Given the description of an element on the screen output the (x, y) to click on. 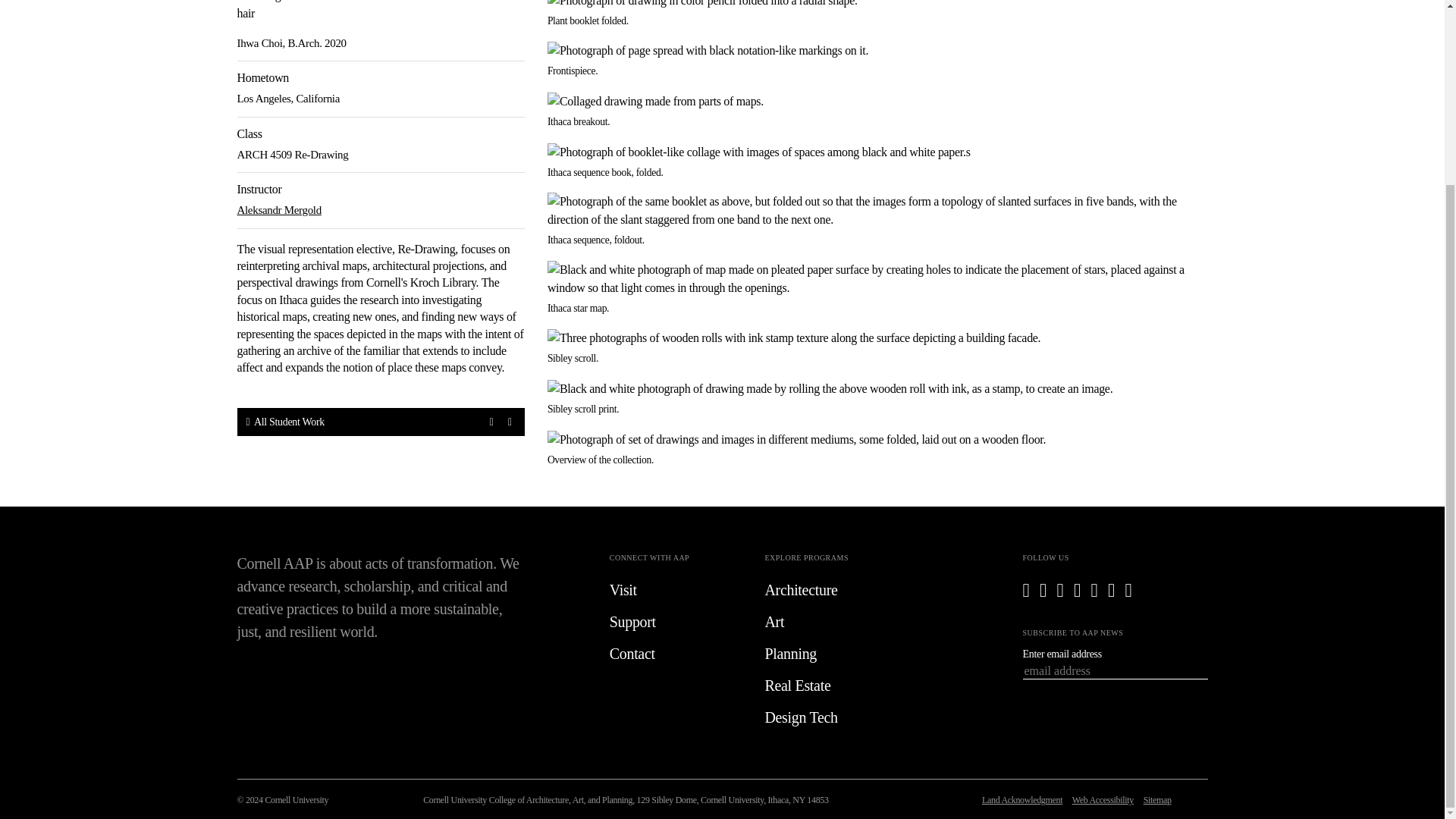
Work by Ihwa Choi. (877, 338)
Work by Ihwa Choi. (877, 152)
Support (676, 621)
Work by Ihwa Choi. (877, 101)
Aleksandr Mergold (277, 209)
Work by Ihwa Choi. (877, 210)
Work by Ihwa Choi. (877, 439)
Work by Ihwa Choi. (877, 389)
Work by Ihwa Choi. (877, 50)
Work by Ihwa Choi. (877, 4)
